Given the description of an element on the screen output the (x, y) to click on. 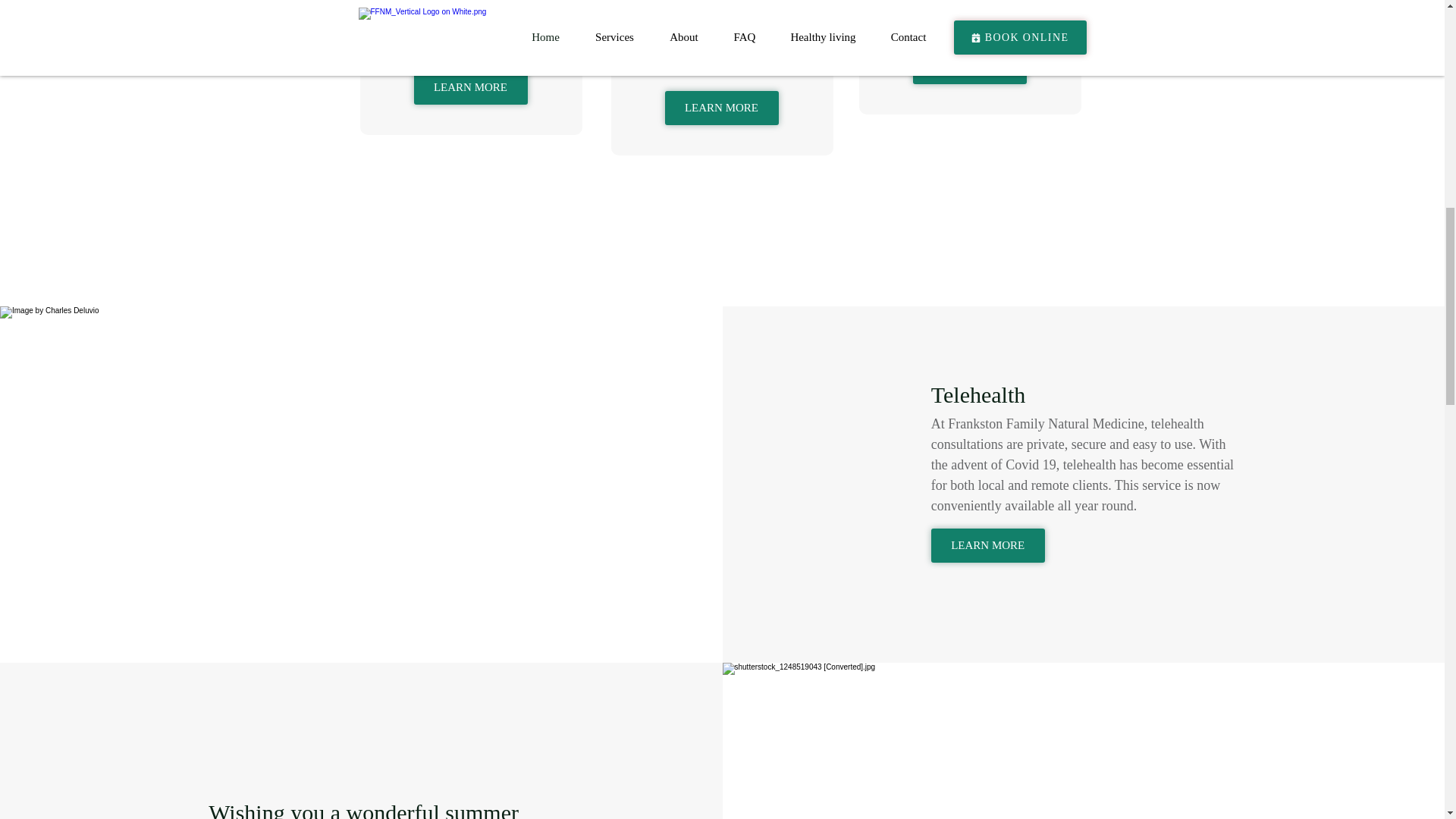
LEARN MORE (969, 66)
LEARN MORE (720, 107)
LEARN MORE (988, 545)
LEARN MORE (470, 87)
